Given the description of an element on the screen output the (x, y) to click on. 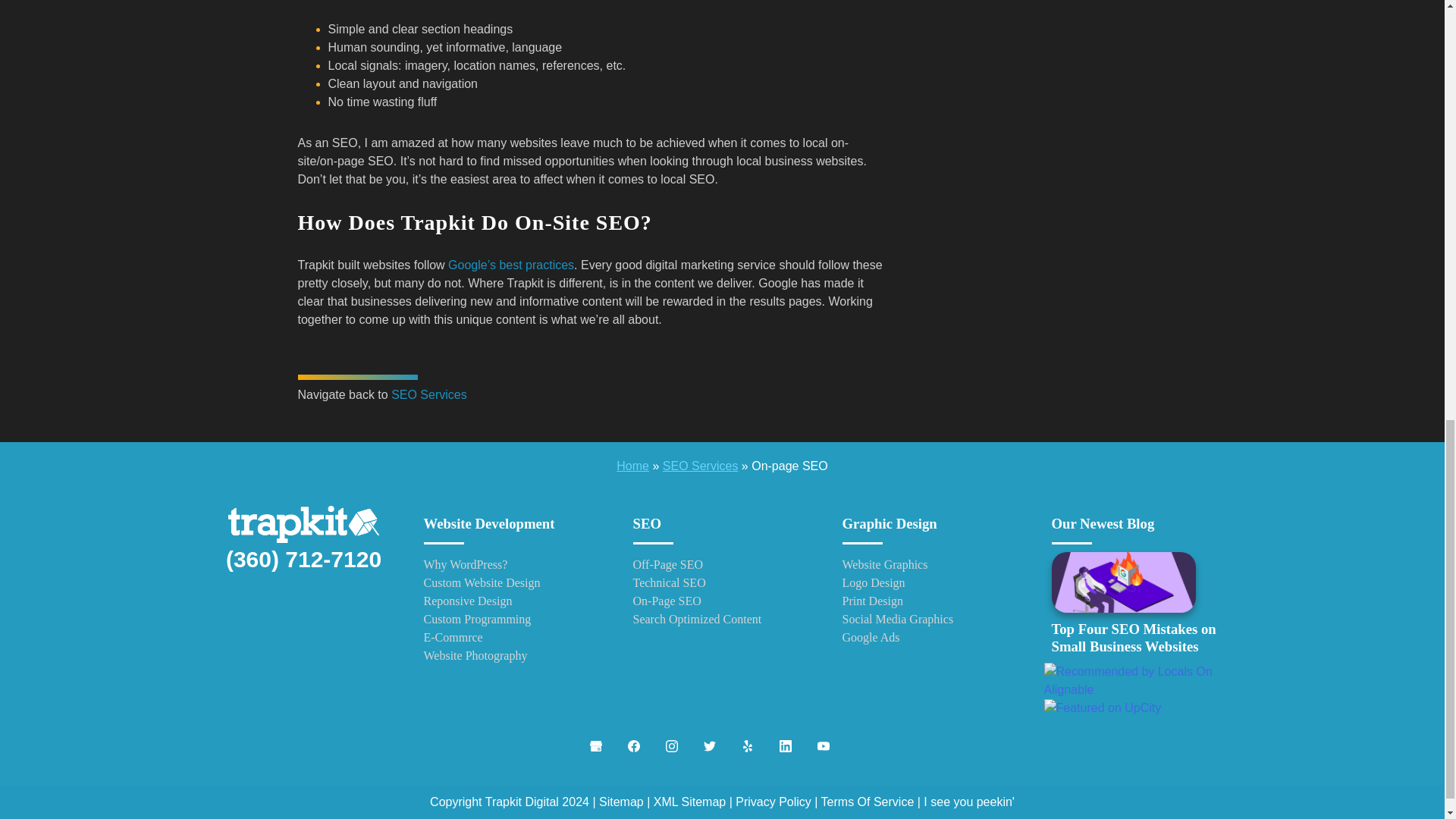
Search Optimized Content (720, 619)
Custom Website Design (512, 583)
Off-Page SEO (720, 565)
SEO Services (700, 465)
Why WordPress? (512, 565)
Website Photography (512, 656)
Custom Programming (512, 619)
E-Commrce (512, 637)
Home (632, 465)
Technical SEO (720, 583)
